Given the description of an element on the screen output the (x, y) to click on. 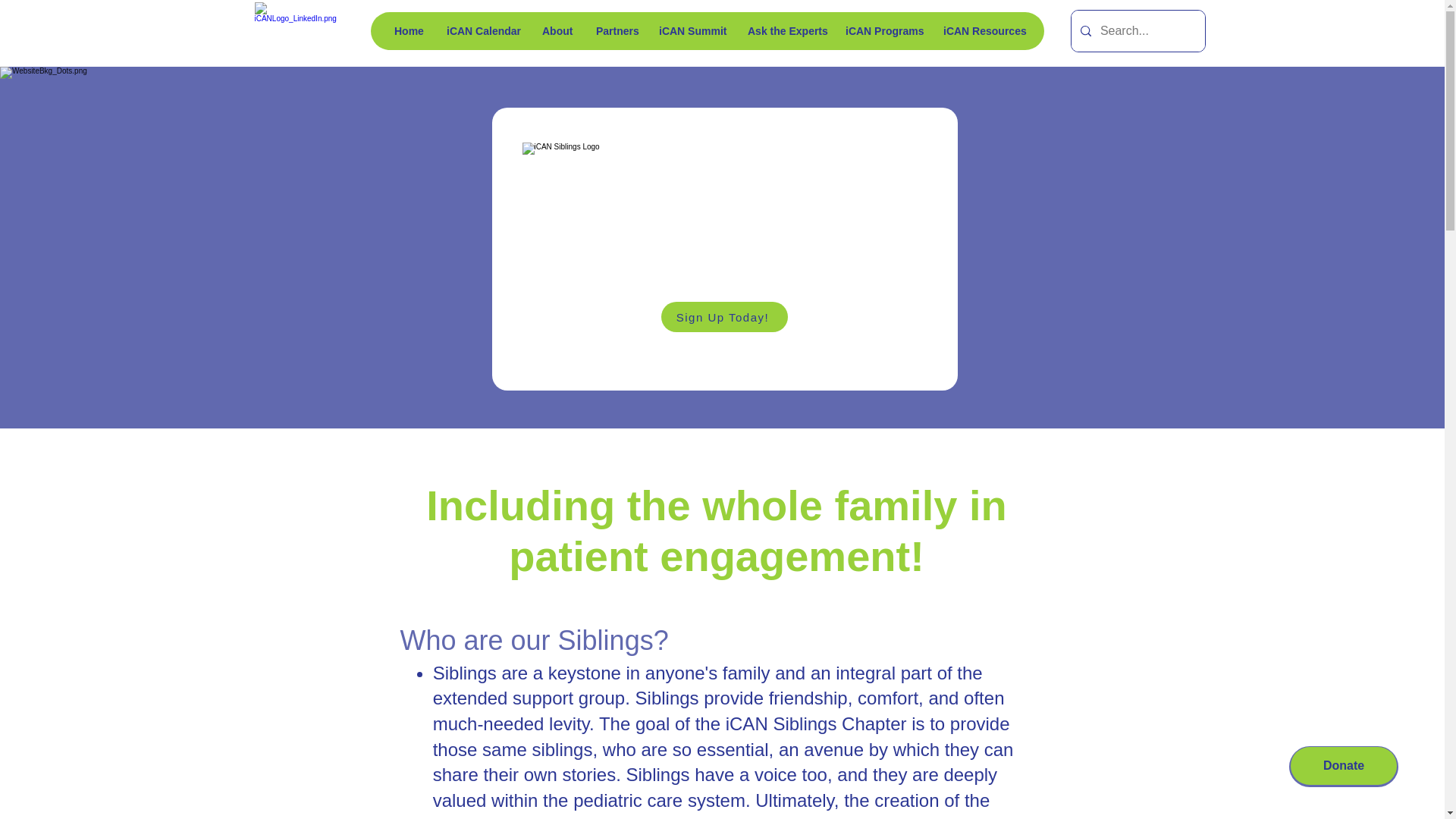
Sign Up Today! (724, 317)
Ask the Experts (783, 30)
Partners (614, 30)
Donate (1343, 765)
About (556, 30)
iCAN Calendar (481, 30)
iCAN Summit (690, 30)
Home (407, 30)
